Given the description of an element on the screen output the (x, y) to click on. 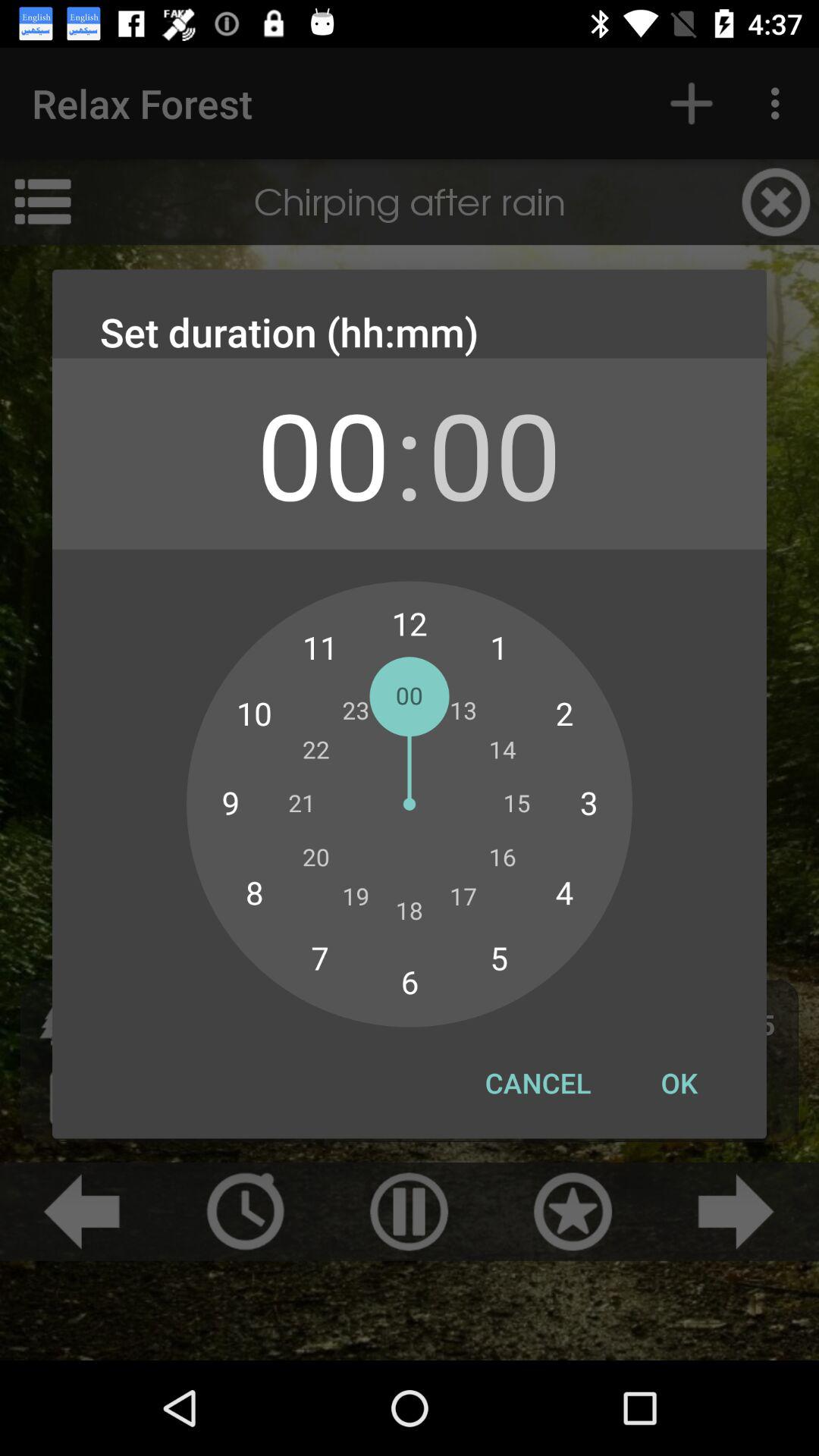
press the item at the bottom (538, 1082)
